Given the description of an element on the screen output the (x, y) to click on. 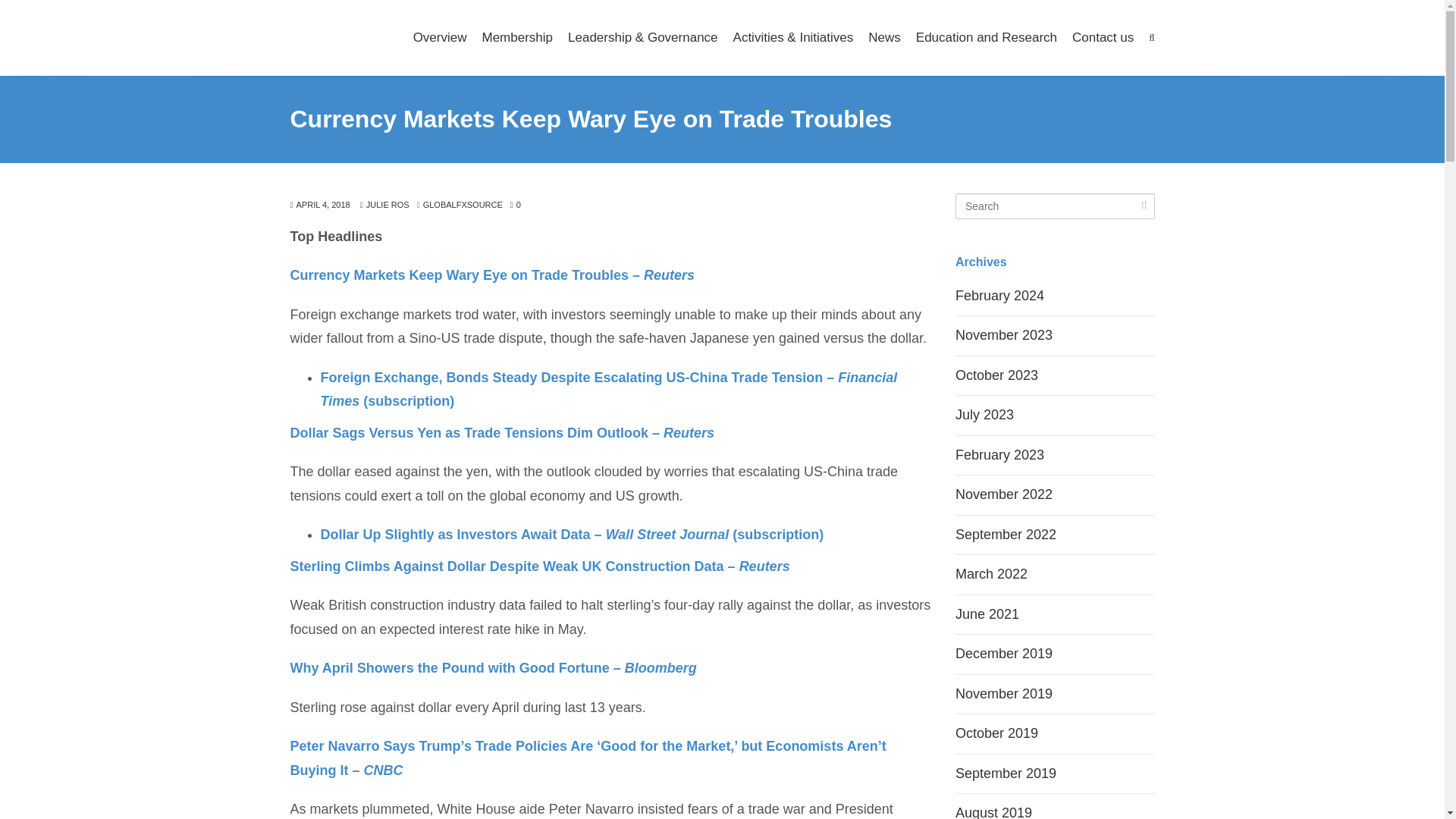
Membership (517, 38)
Overview (440, 38)
Contact us (1102, 38)
GLOBALFXSOURCE (462, 205)
JULIE ROS (384, 205)
Education and Research (986, 38)
APRIL 4, 2018 (319, 205)
